Given the description of an element on the screen output the (x, y) to click on. 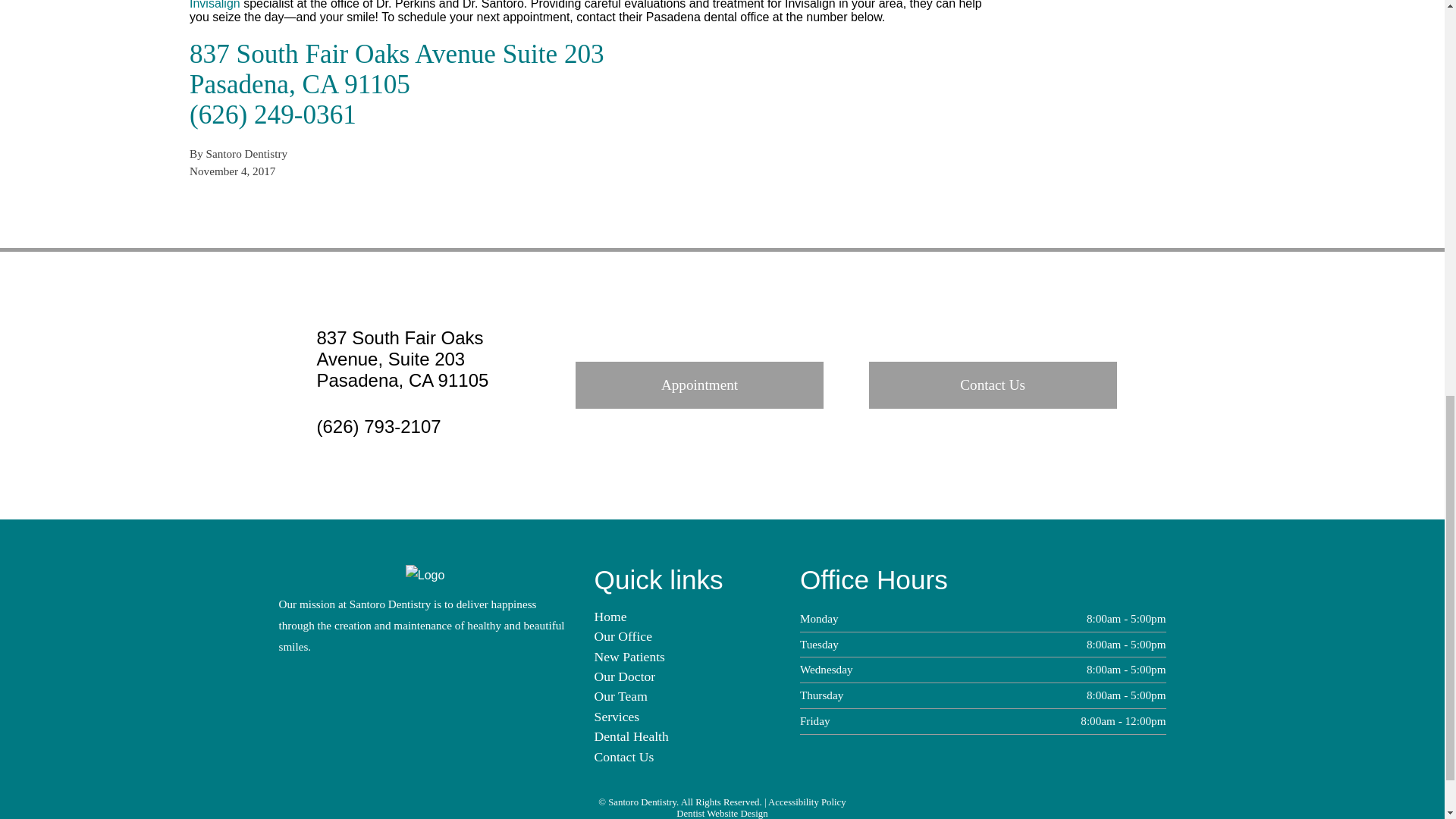
Contact Us (992, 384)
Our Office (623, 635)
Our Doctor (625, 676)
Pasadena Invisalign (583, 4)
New Patients (629, 656)
Appointment (699, 384)
Dental Health (631, 735)
Services (617, 716)
Home (610, 616)
Accessibility Policy (806, 801)
Dentist Website Design (722, 813)
Our Team (620, 695)
Contact Us (623, 756)
